Given the description of an element on the screen output the (x, y) to click on. 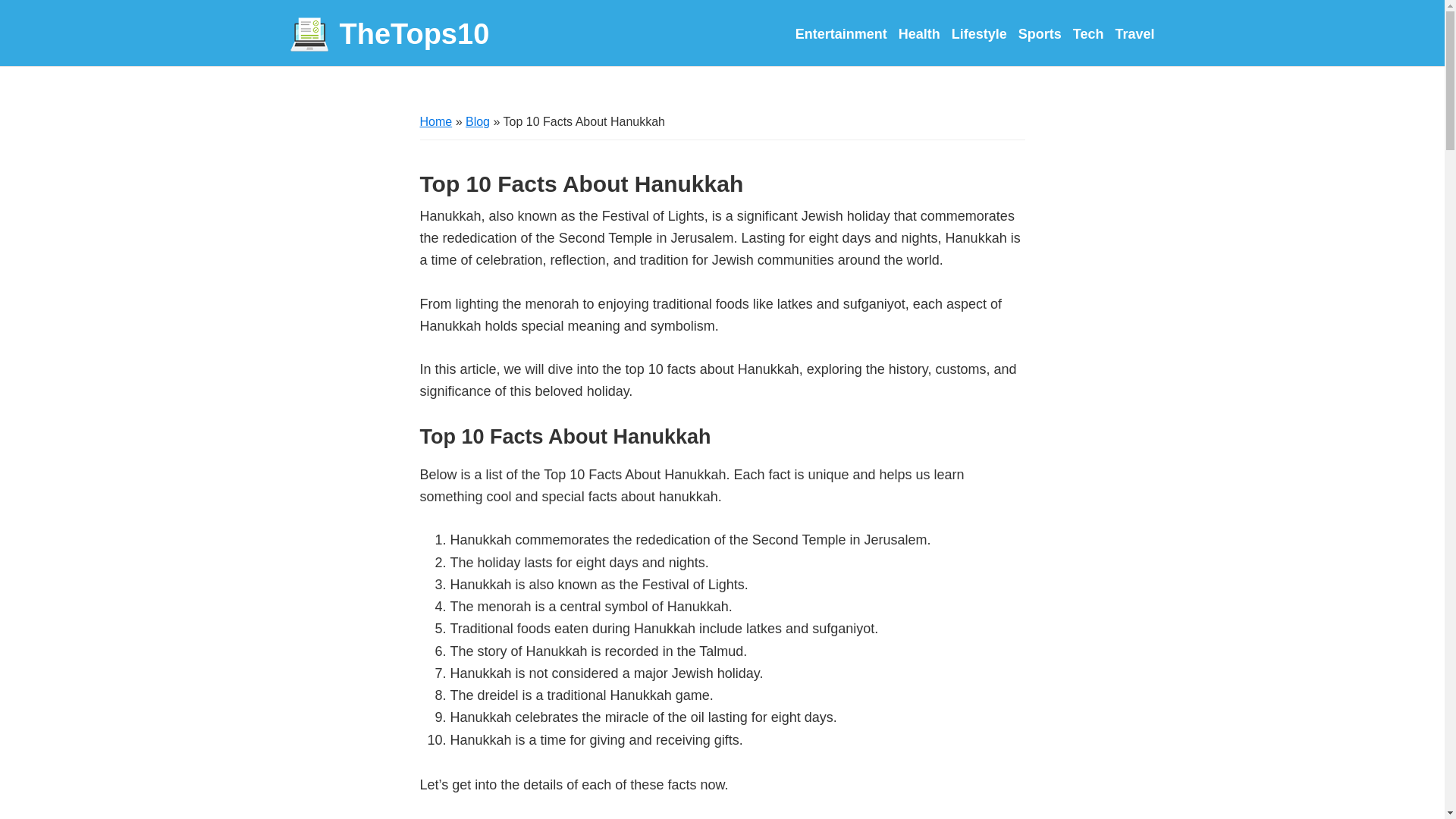
Tech (1088, 33)
Travel (1134, 33)
Entertainment (840, 33)
Sports (1039, 33)
Home (436, 121)
Health (919, 33)
TheTops10 (389, 34)
Lifestyle (979, 33)
Blog (477, 121)
